Given the description of an element on the screen output the (x, y) to click on. 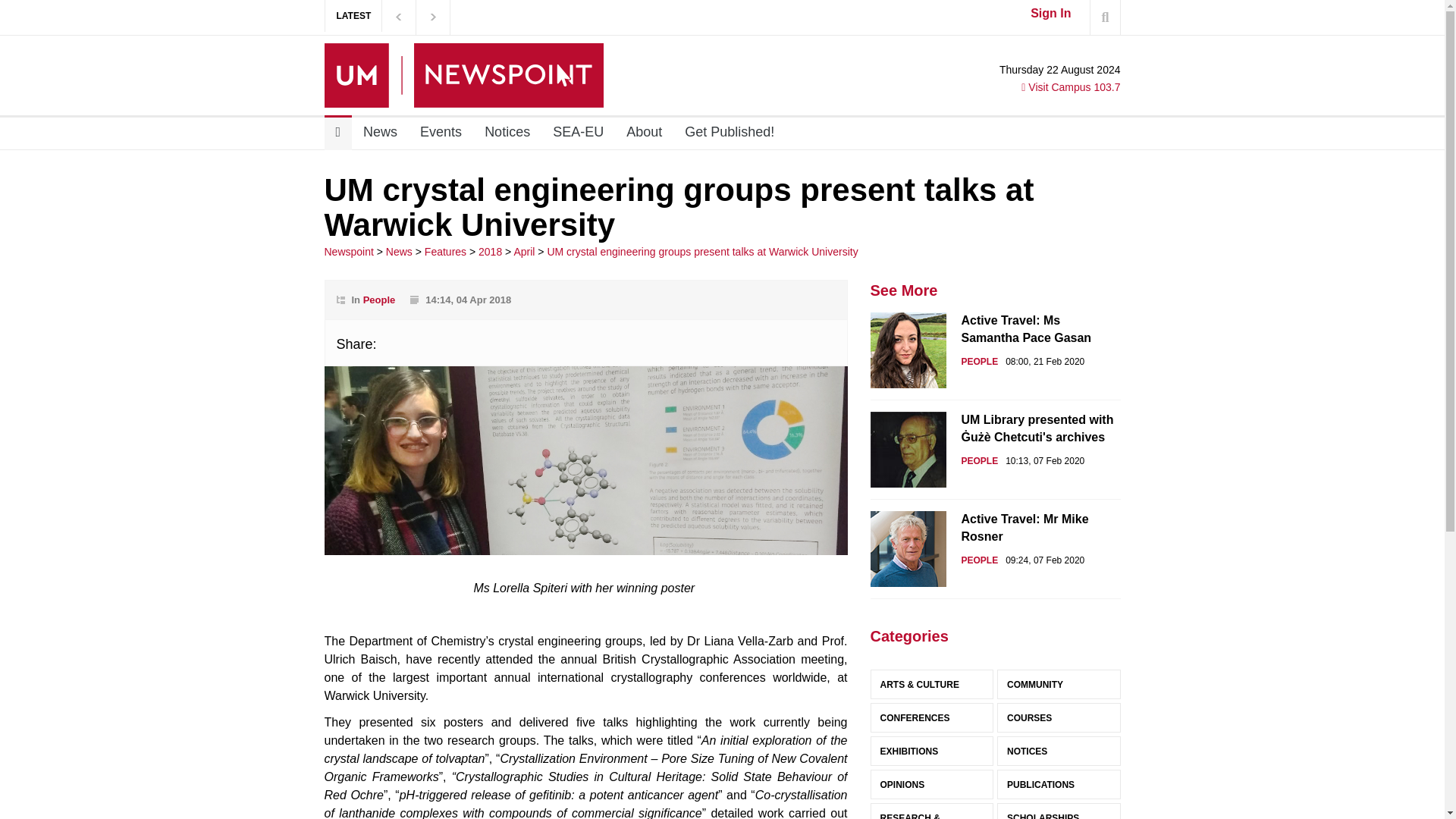
Samantha Pace Gasan (908, 350)
Active Travel: Ms Samantha Pace Gasan (995, 350)
University of Malta (464, 75)
People (379, 299)
Guze Chetcuti archives (908, 449)
